Given the description of an element on the screen output the (x, y) to click on. 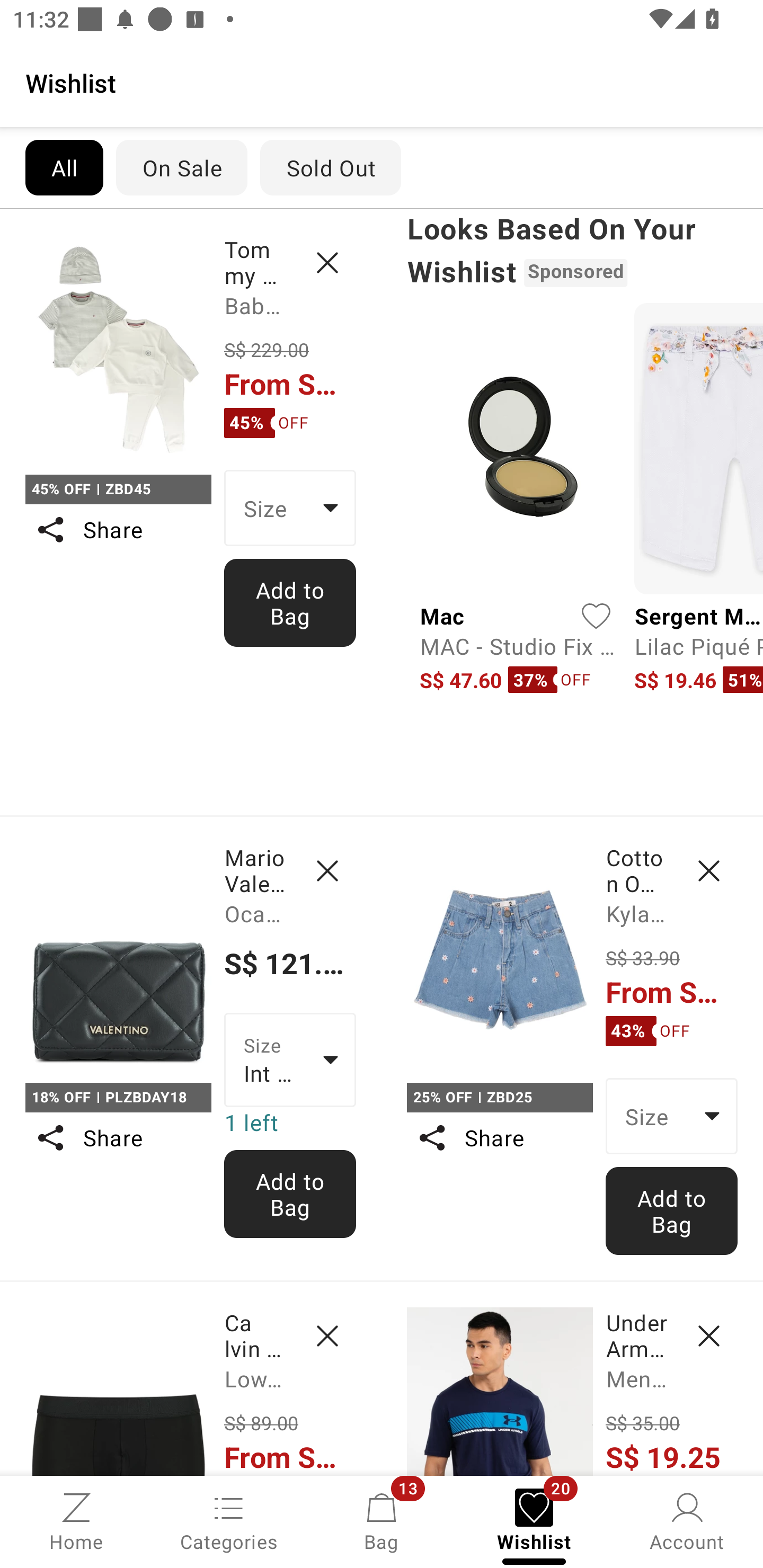
Wishlist (381, 82)
All (64, 167)
On Sale (181, 167)
Sold Out (330, 167)
Size (290, 507)
Share (118, 529)
Add to Bag (290, 602)
Size Int One Size (290, 1059)
Size (671, 1116)
Share (118, 1137)
Share (499, 1137)
Add to Bag (290, 1193)
Add to Bag (671, 1210)
Home (76, 1519)
Categories (228, 1519)
Bag, 13 new notifications Bag (381, 1519)
Account (686, 1519)
